Given the description of an element on the screen output the (x, y) to click on. 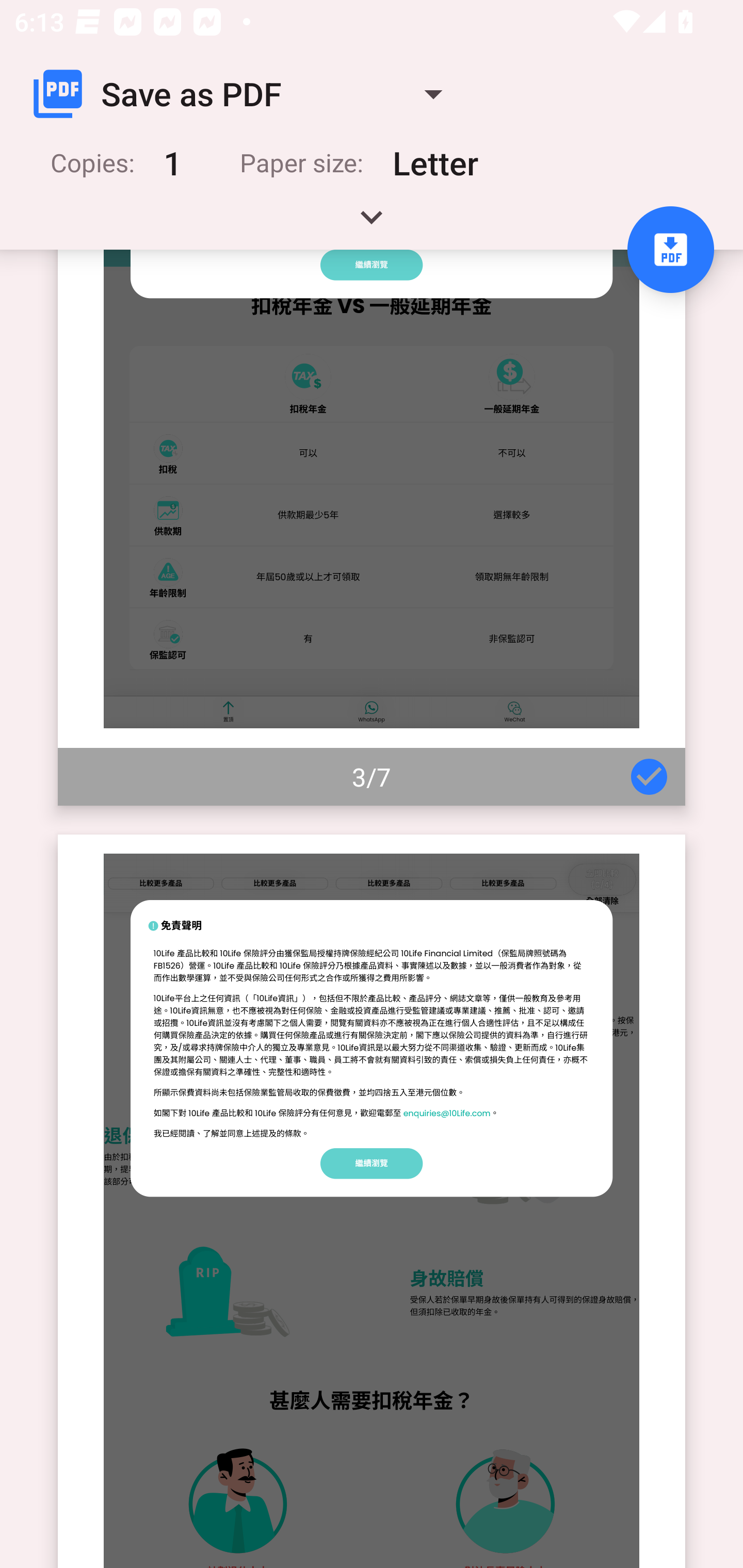
Save as PDF (245, 93)
Expand handle (371, 224)
Save to PDF (670, 249)
Page 4 of 7 (371, 1201)
